Given the description of an element on the screen output the (x, y) to click on. 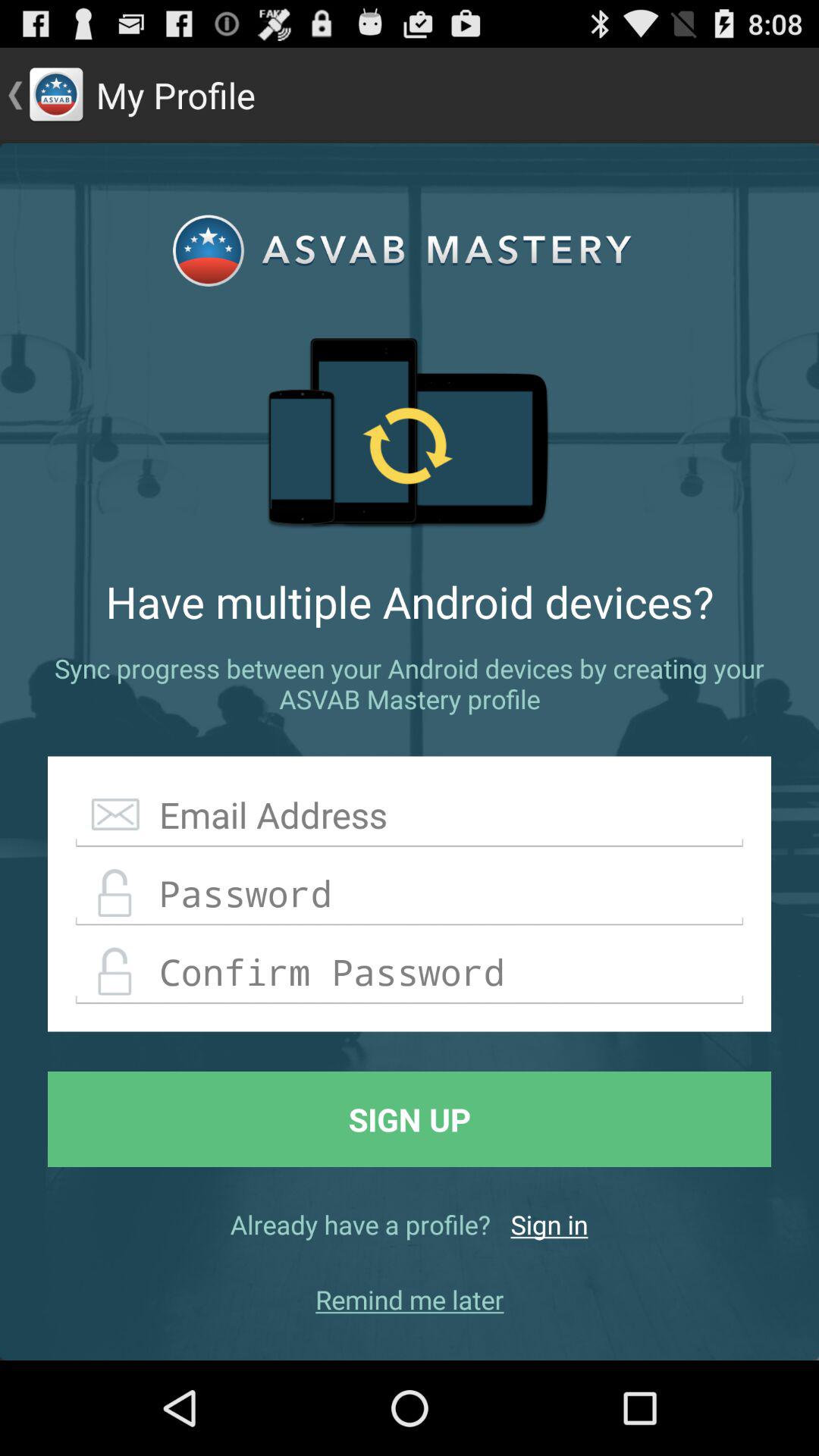
open app below already have a icon (409, 1299)
